Given the description of an element on the screen output the (x, y) to click on. 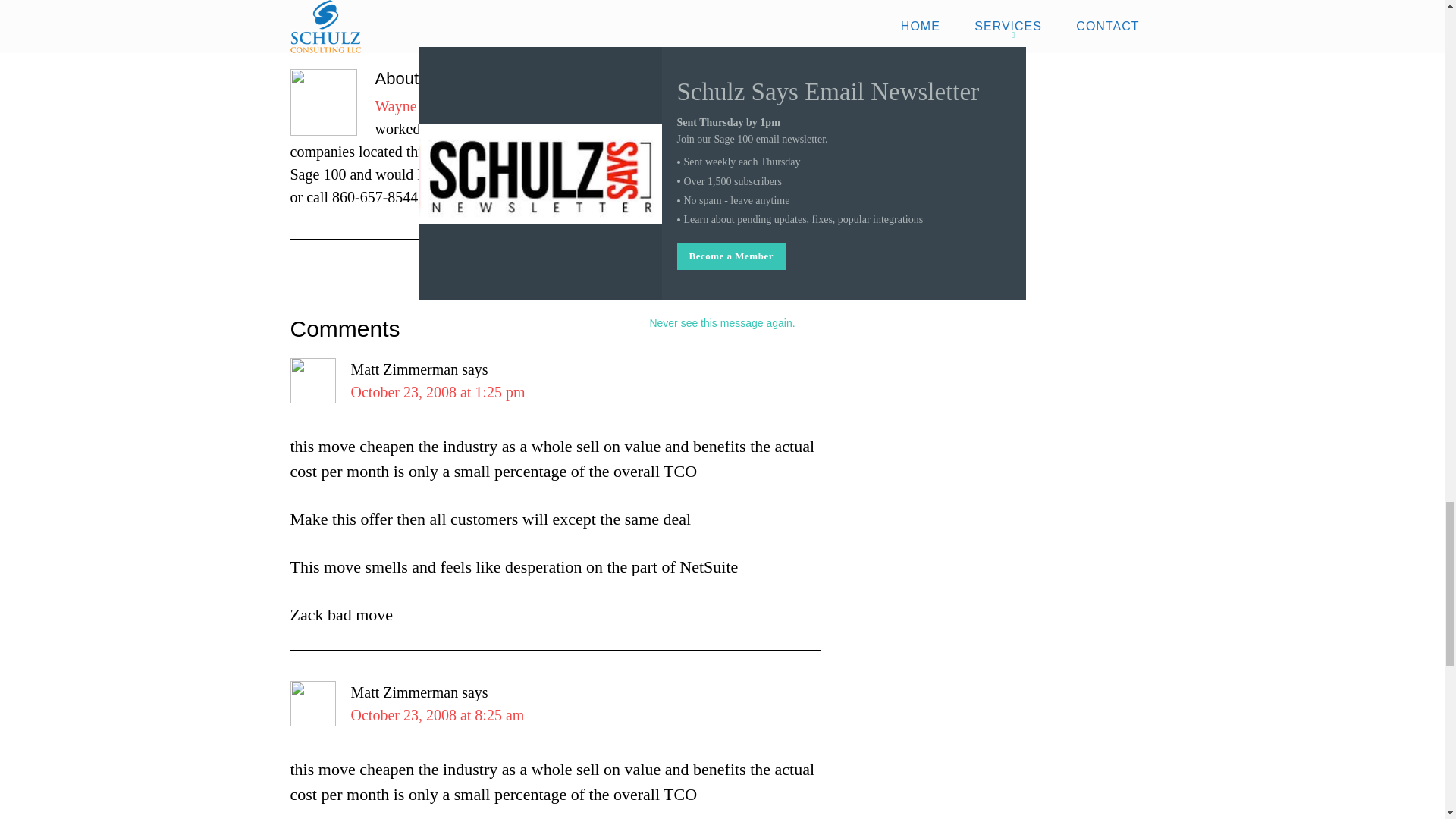
October 23, 2008 at 8:25 am (437, 714)
request assistance (728, 174)
Wayne Schulz (417, 105)
October 23, 2008 at 1:25 pm (437, 392)
